Given the description of an element on the screen output the (x, y) to click on. 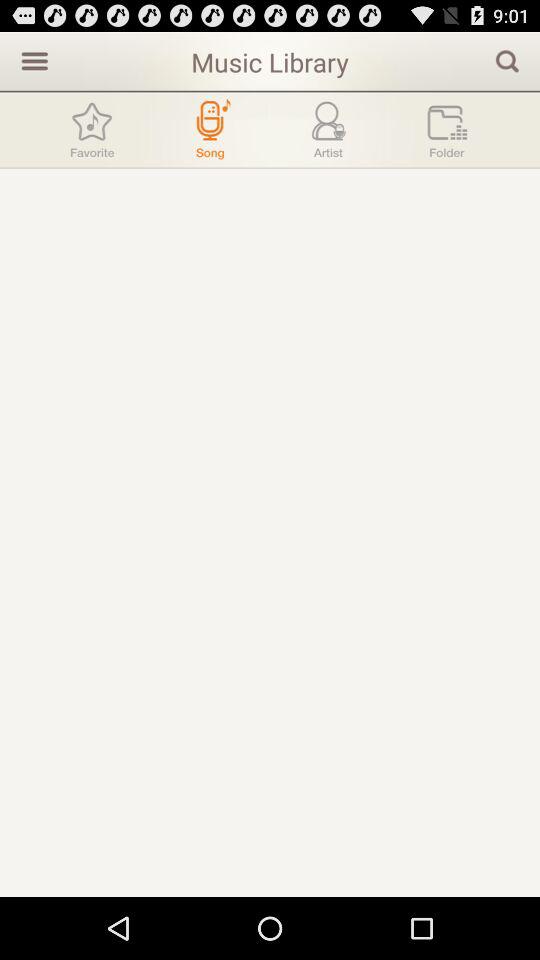
choose the item next to the music library item (32, 60)
